Given the description of an element on the screen output the (x, y) to click on. 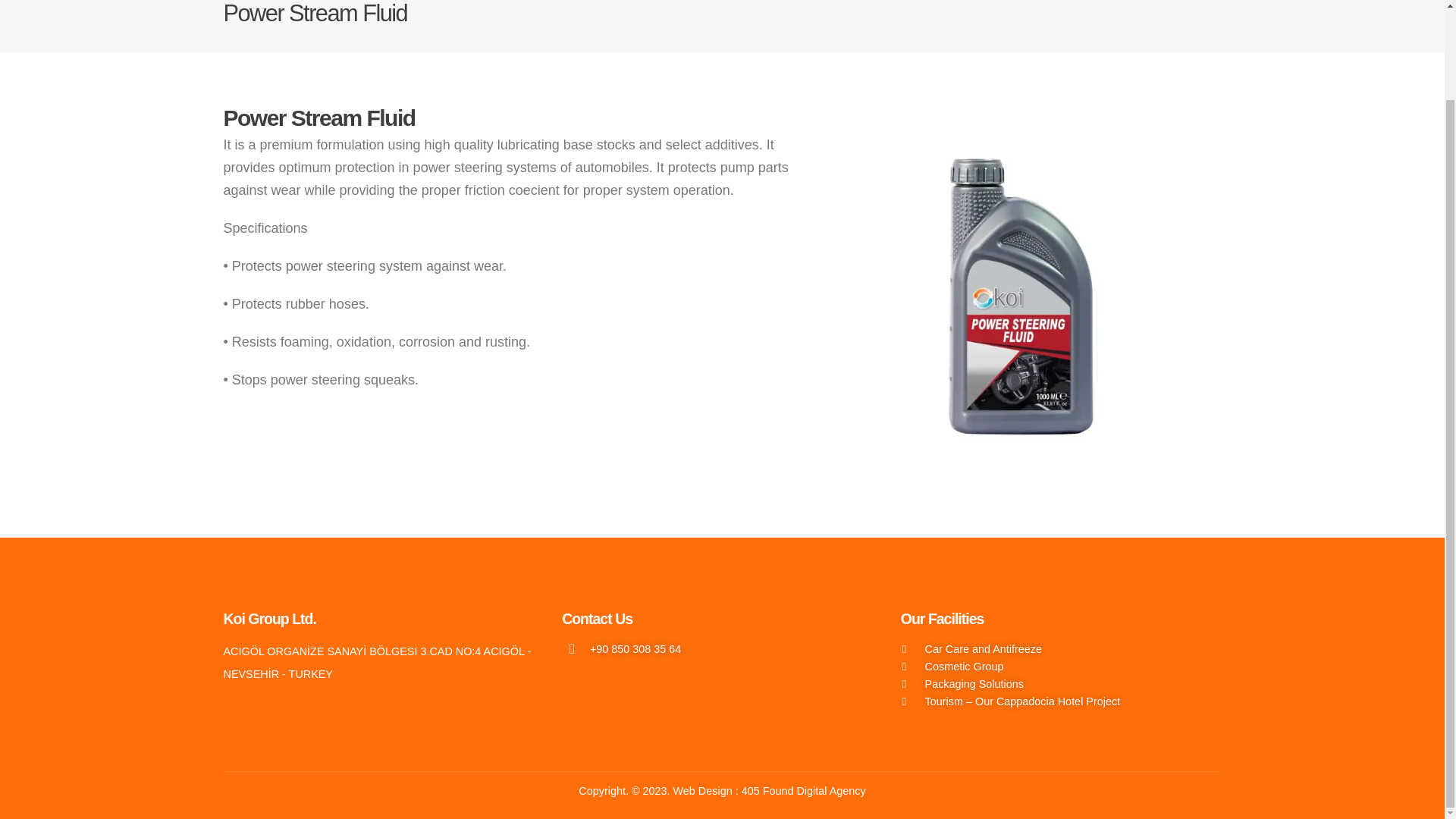
405 Found Digital Agency (803, 790)
Cosmetic Group (1061, 666)
Packaging Solutions (1061, 683)
Car Care and Antifreeze (1061, 648)
